Given the description of an element on the screen output the (x, y) to click on. 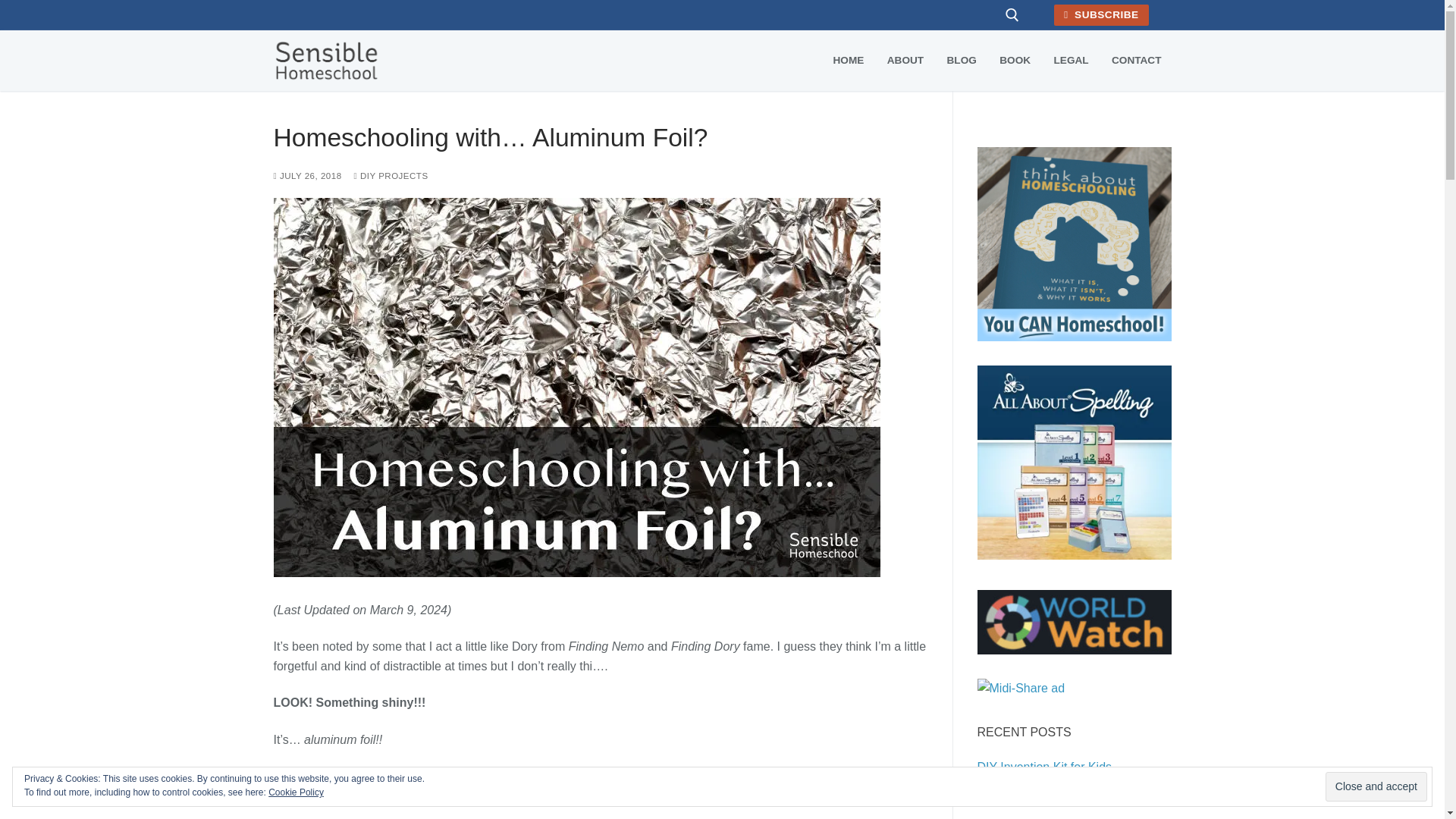
DIY PROJECTS (390, 175)
JULY 26, 2018 (306, 175)
CONTACT (1136, 60)
BLOG (962, 60)
ABOUT (905, 60)
BOOK (1015, 60)
LEGAL (1071, 60)
HOME (849, 60)
DIY Invention Kit for Kids (1073, 770)
Close and accept (1375, 786)
SUBSCRIBE (1102, 14)
